Given the description of an element on the screen output the (x, y) to click on. 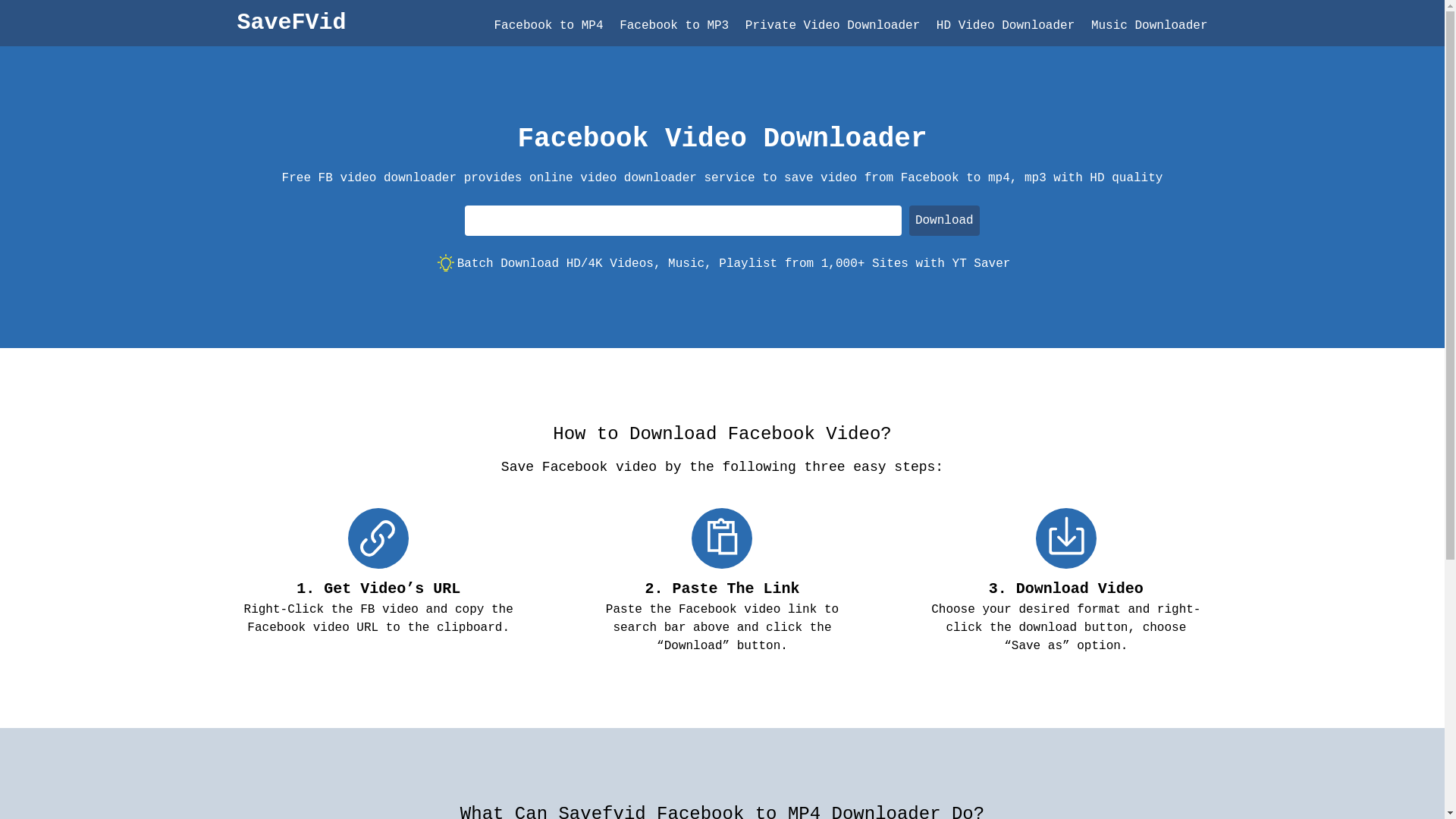
Facebook to MP4 Element type: text (548, 25)
Download Element type: text (944, 220)
Private Video Downloader Element type: text (832, 25)
SaveFVid Element type: text (290, 25)
HD Video Downloader Element type: text (1009, 25)
Music Downloader Element type: text (1149, 25)
Facebook to MP3 Element type: text (673, 25)
